Given the description of an element on the screen output the (x, y) to click on. 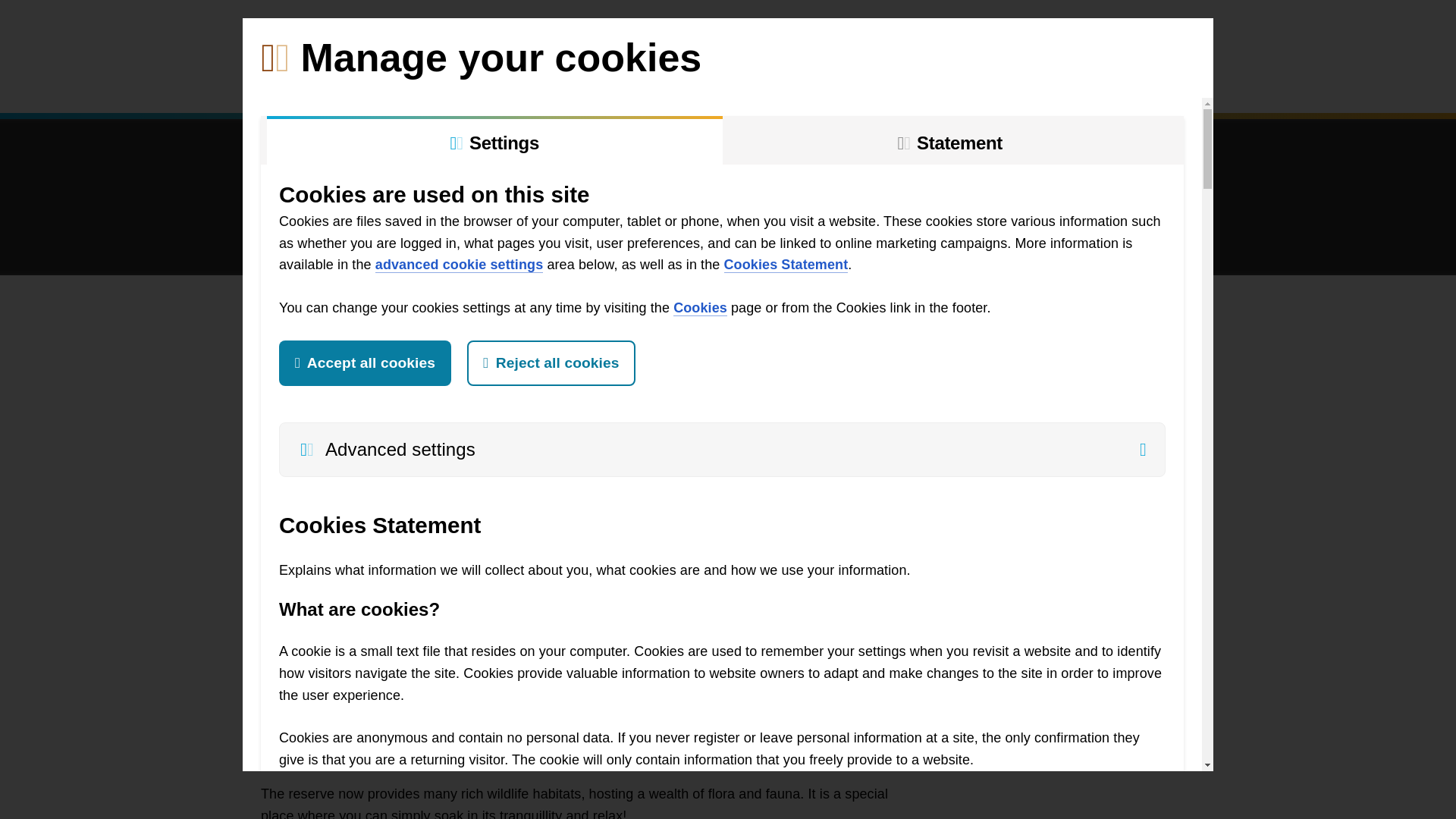
List of East Riding Culture and Leisure sites (379, 33)
Directory of beaches, parks and reserves in the East Riding (1185, 32)
Conservation and Safety (687, 83)
Volunteering (356, 83)
Coast (443, 83)
Countryside (538, 83)
Contact (1039, 83)
What's on (831, 83)
Home (283, 83)
